Given the description of an element on the screen output the (x, y) to click on. 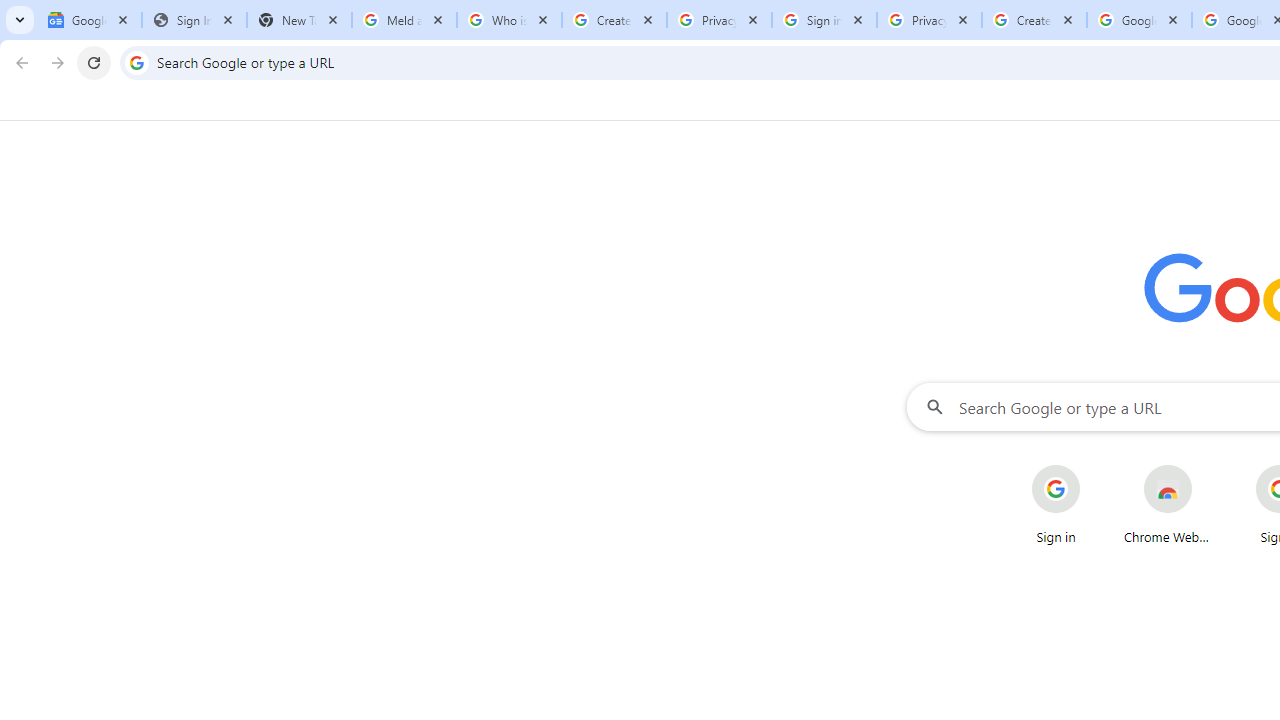
Who is my administrator? - Google Account Help (509, 20)
More actions for Chrome Web Store shortcut (1208, 466)
New Tab (299, 20)
Google News (89, 20)
